Given the description of an element on the screen output the (x, y) to click on. 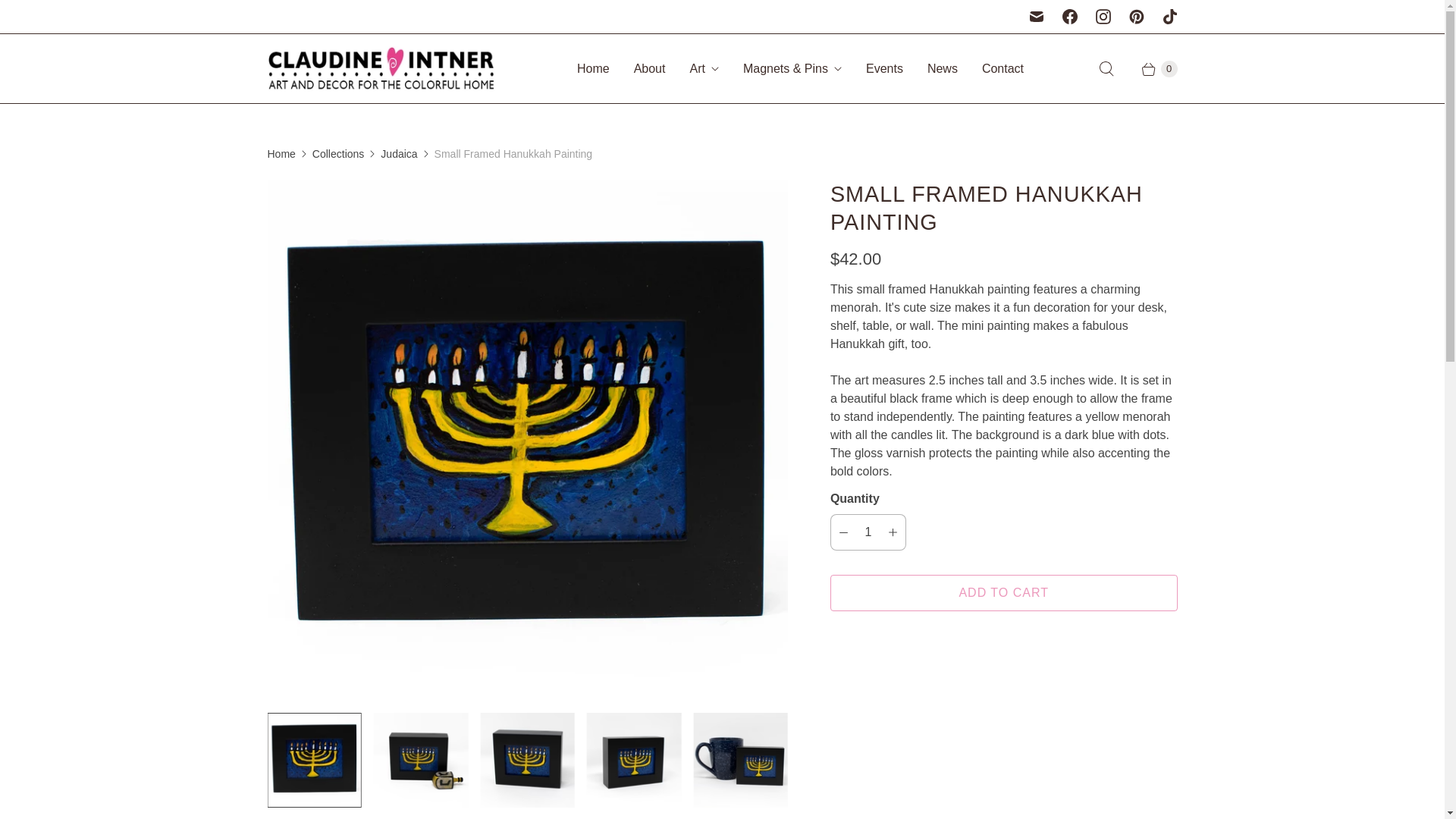
Home (592, 68)
Contact (1002, 68)
About (649, 68)
News (942, 68)
Events (884, 68)
0 (1151, 68)
